Given the description of an element on the screen output the (x, y) to click on. 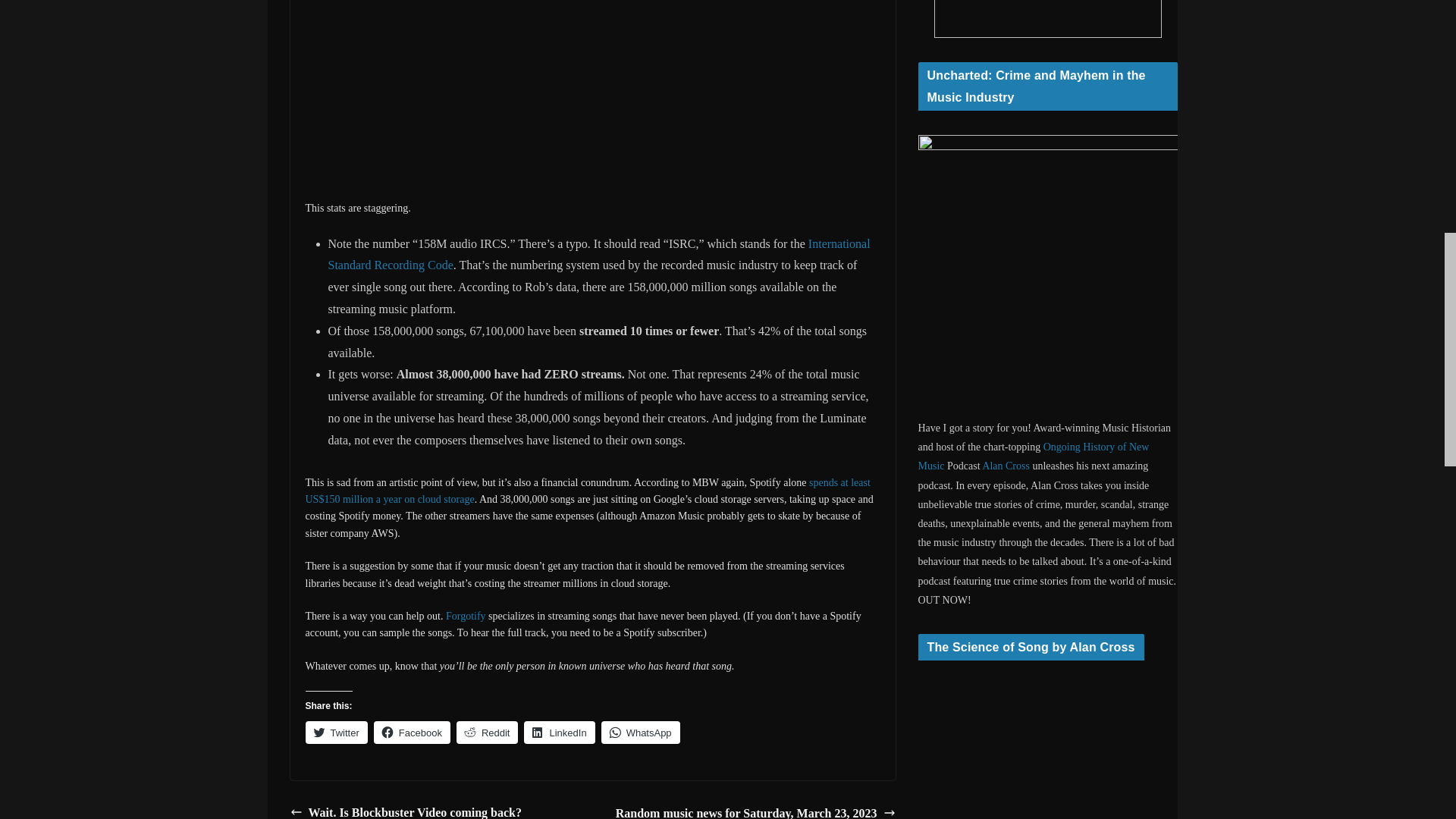
Forgotify (465, 615)
WhatsApp (640, 732)
International Standard Recording Code (598, 254)
Twitter (335, 732)
Random music news for Saturday, March 23, 2023 (755, 811)
LinkedIn (559, 732)
Click to share on Reddit (487, 732)
Reddit (487, 732)
Click to share on WhatsApp (640, 732)
Click to share on Twitter (335, 732)
